Given the description of an element on the screen output the (x, y) to click on. 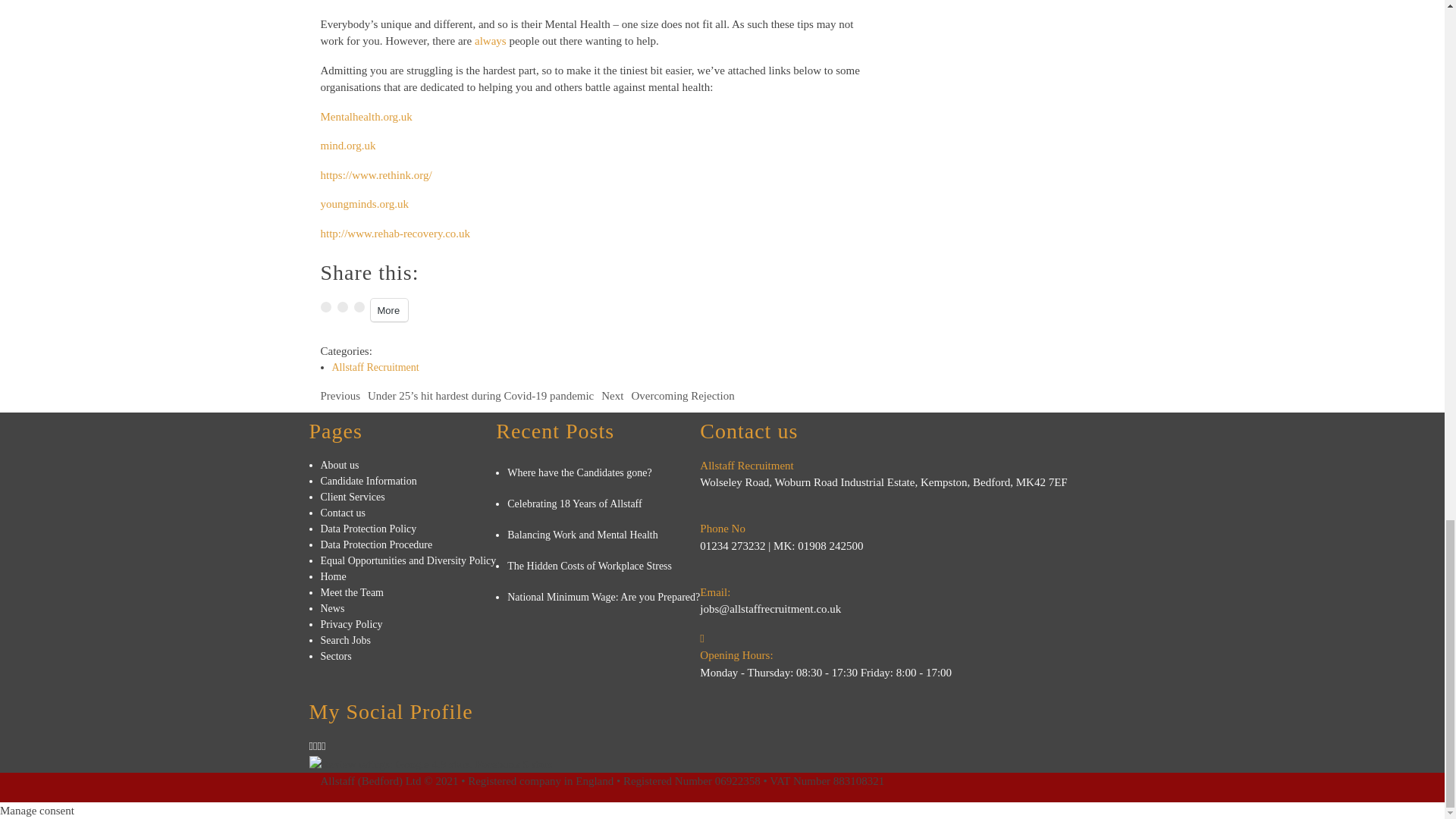
Click to share on LinkedIn (358, 307)
youngminds.org.uk (363, 203)
Allstaff Recruitment (375, 367)
mind.org.uk (347, 145)
Click to share on Facebook (341, 307)
Click to share on Twitter (325, 307)
Mentalhealth.org.uk (366, 116)
More (388, 309)
